Given the description of an element on the screen output the (x, y) to click on. 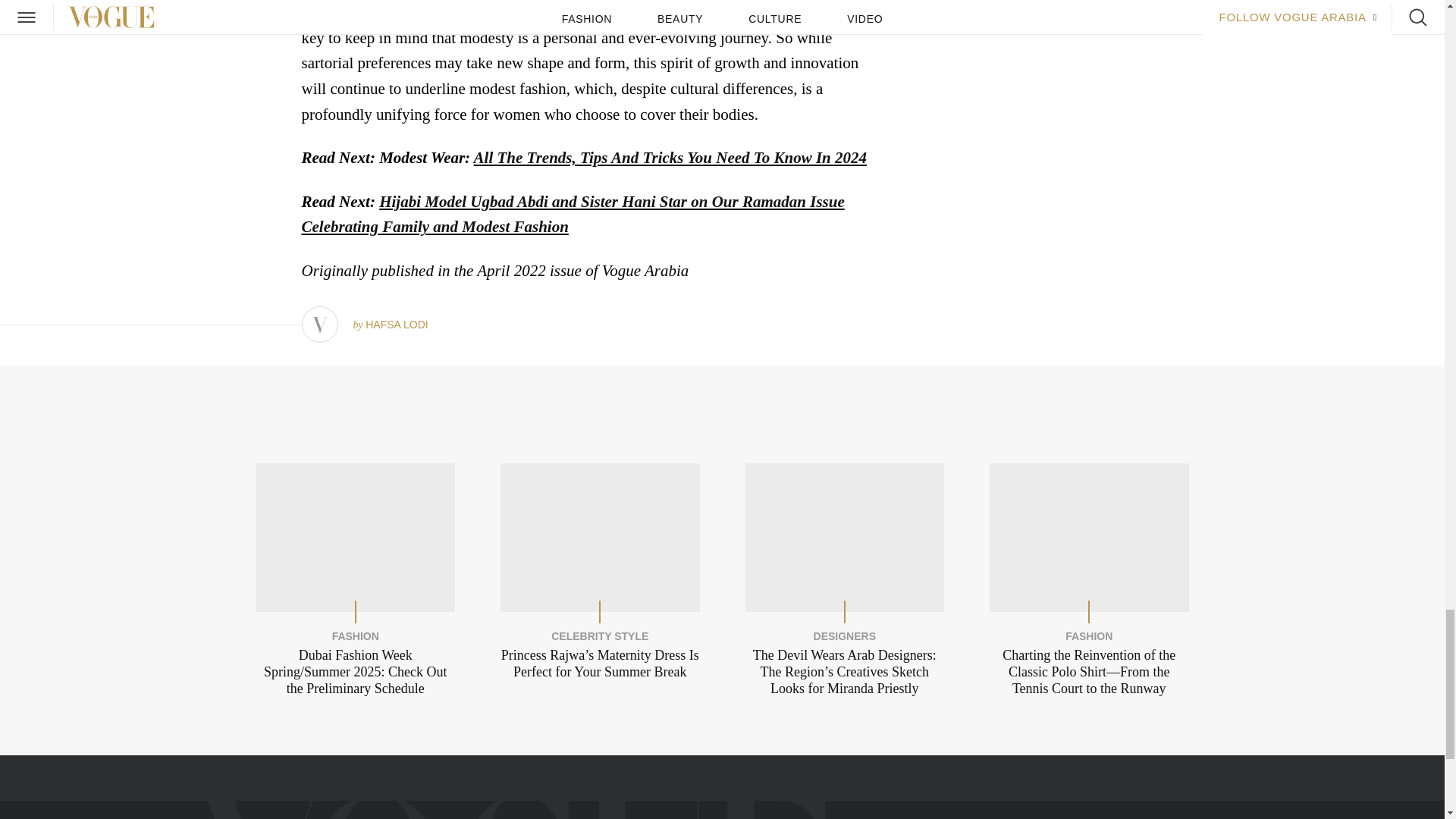
HAFSA LODI (396, 324)
All The Trends, Tips And Tricks You Need To Know In 2024 (670, 158)
CELEBRITY STYLE (599, 635)
DESIGNERS (844, 635)
Posts by Hafsa Lodi (396, 324)
FASHION (354, 635)
